Given the description of an element on the screen output the (x, y) to click on. 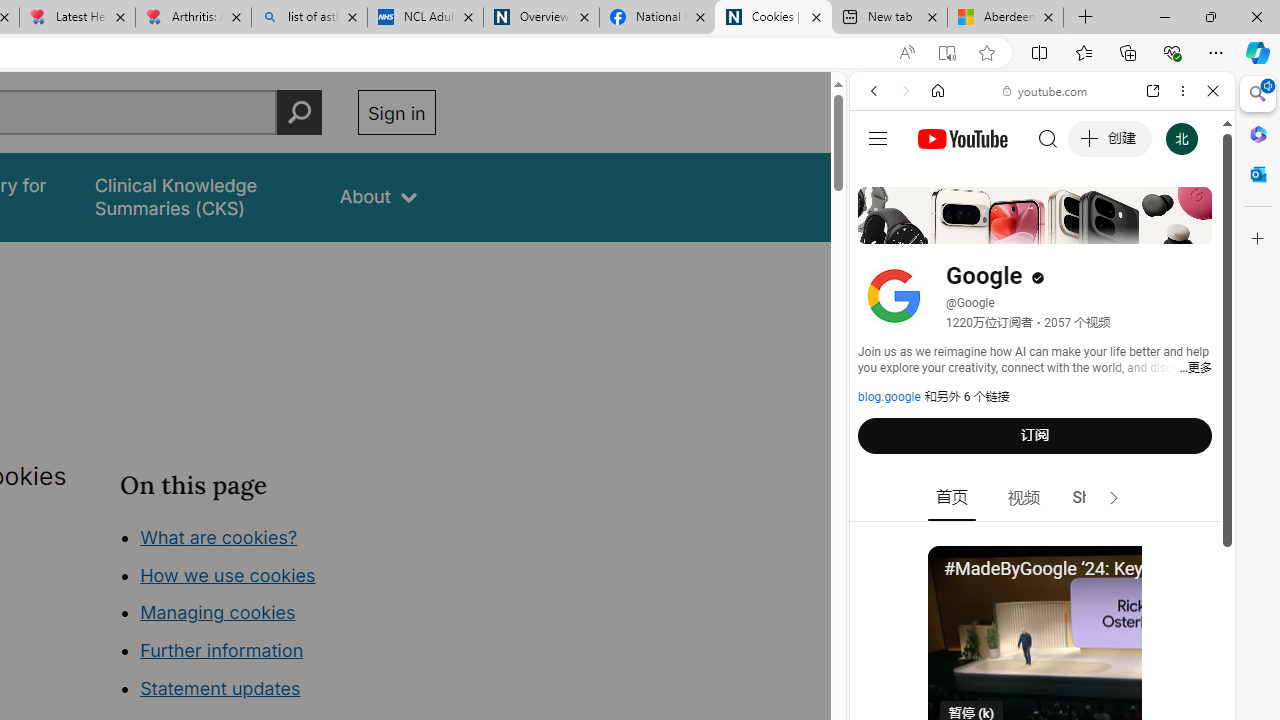
Search videos from youtube.com (1005, 657)
Cookies | About | NICE (772, 17)
Perform search (299, 112)
Show More Music (1164, 546)
